Given the description of an element on the screen output the (x, y) to click on. 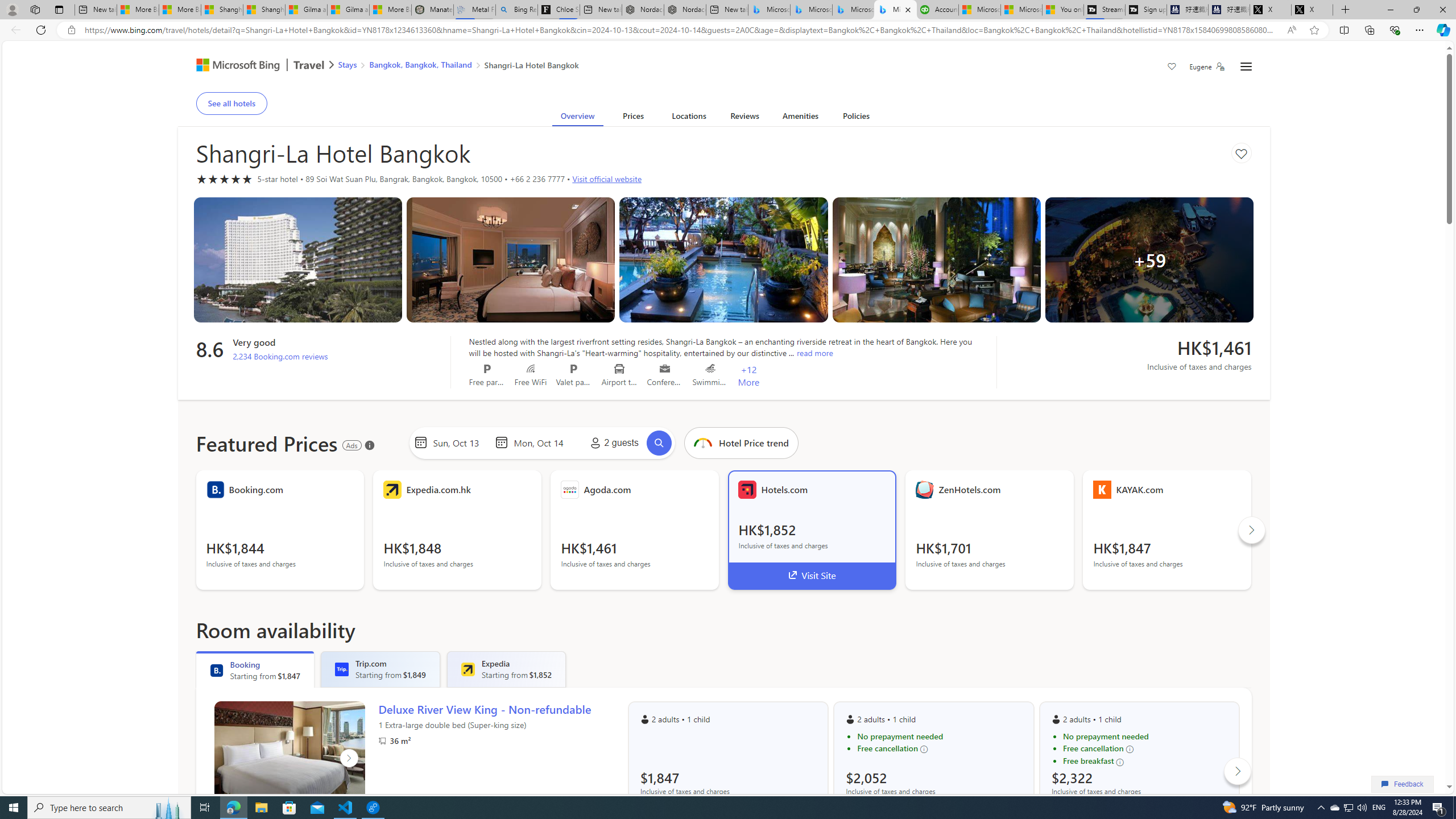
Class: msft-travel-logo (308, 64)
Microsoft Bing Travel (253, 65)
Booking Booking Starting from $1,847 (254, 669)
Hotel room image + 59 (1149, 259)
About our ads (369, 445)
Chloe Sorvino (558, 9)
Overview (576, 118)
Reviews (744, 118)
Prices (633, 118)
+12 More Amenities (749, 375)
